Given the description of an element on the screen output the (x, y) to click on. 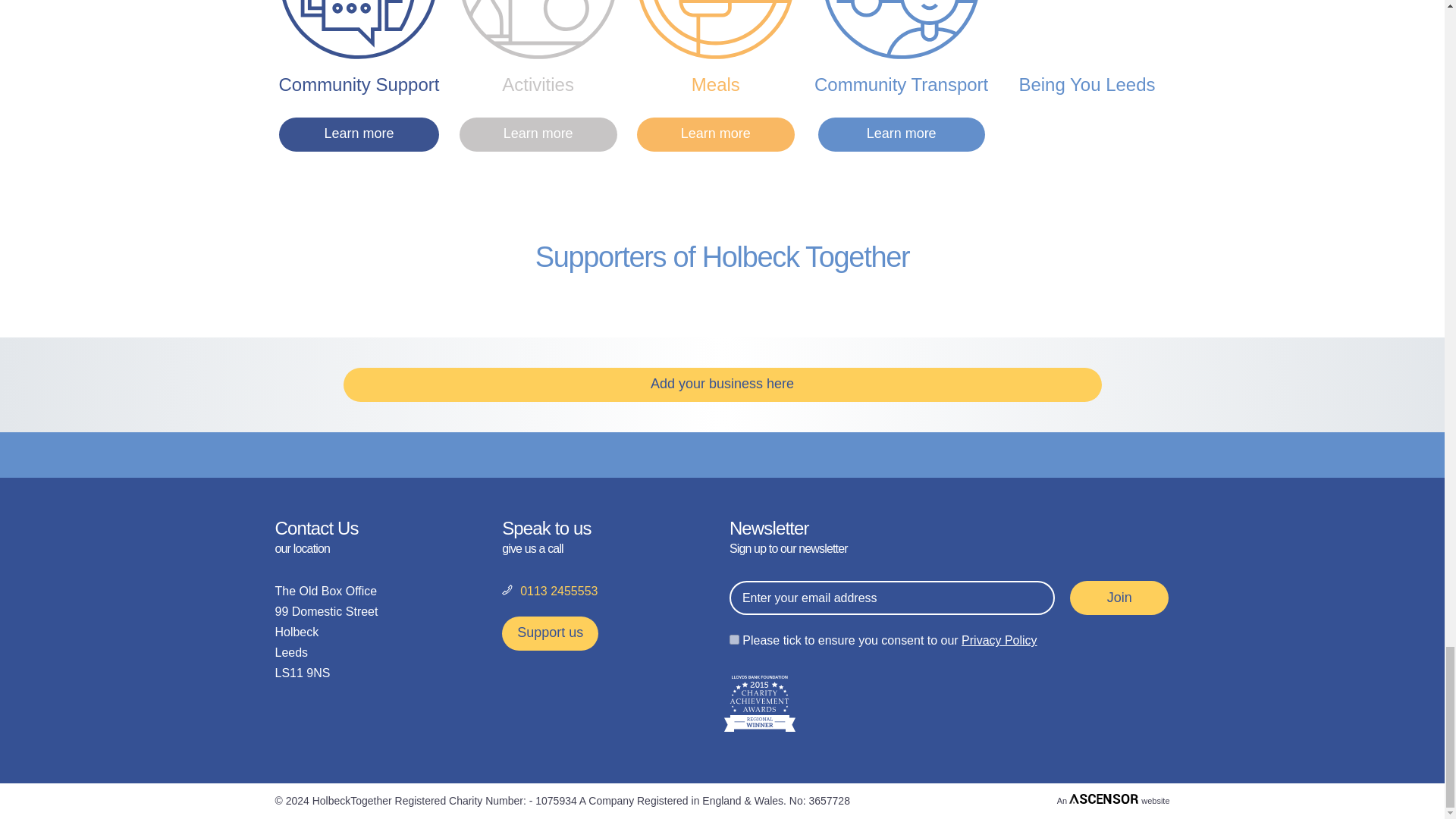
Y (734, 639)
